Given the description of an element on the screen output the (x, y) to click on. 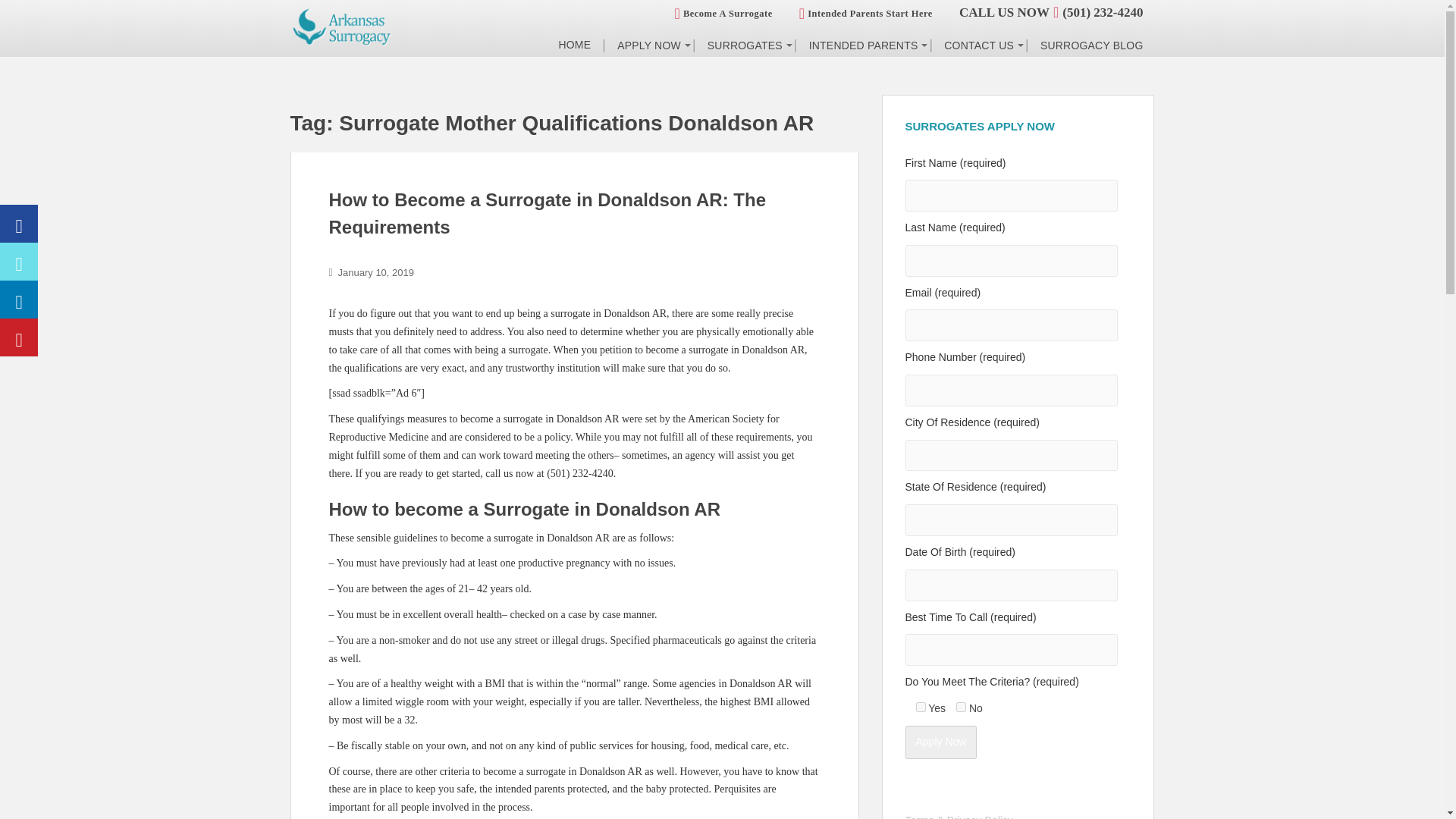
APPLY NOW (647, 51)
SURROGATES (743, 51)
Become A Surrogate (724, 13)
Intended Parents Start Here (866, 13)
HOME (574, 51)
No (961, 706)
Surrogates Apply Now! (647, 51)
Apply Now (940, 742)
Yes (920, 706)
INTENDED PARENTS (861, 51)
